Given the description of an element on the screen output the (x, y) to click on. 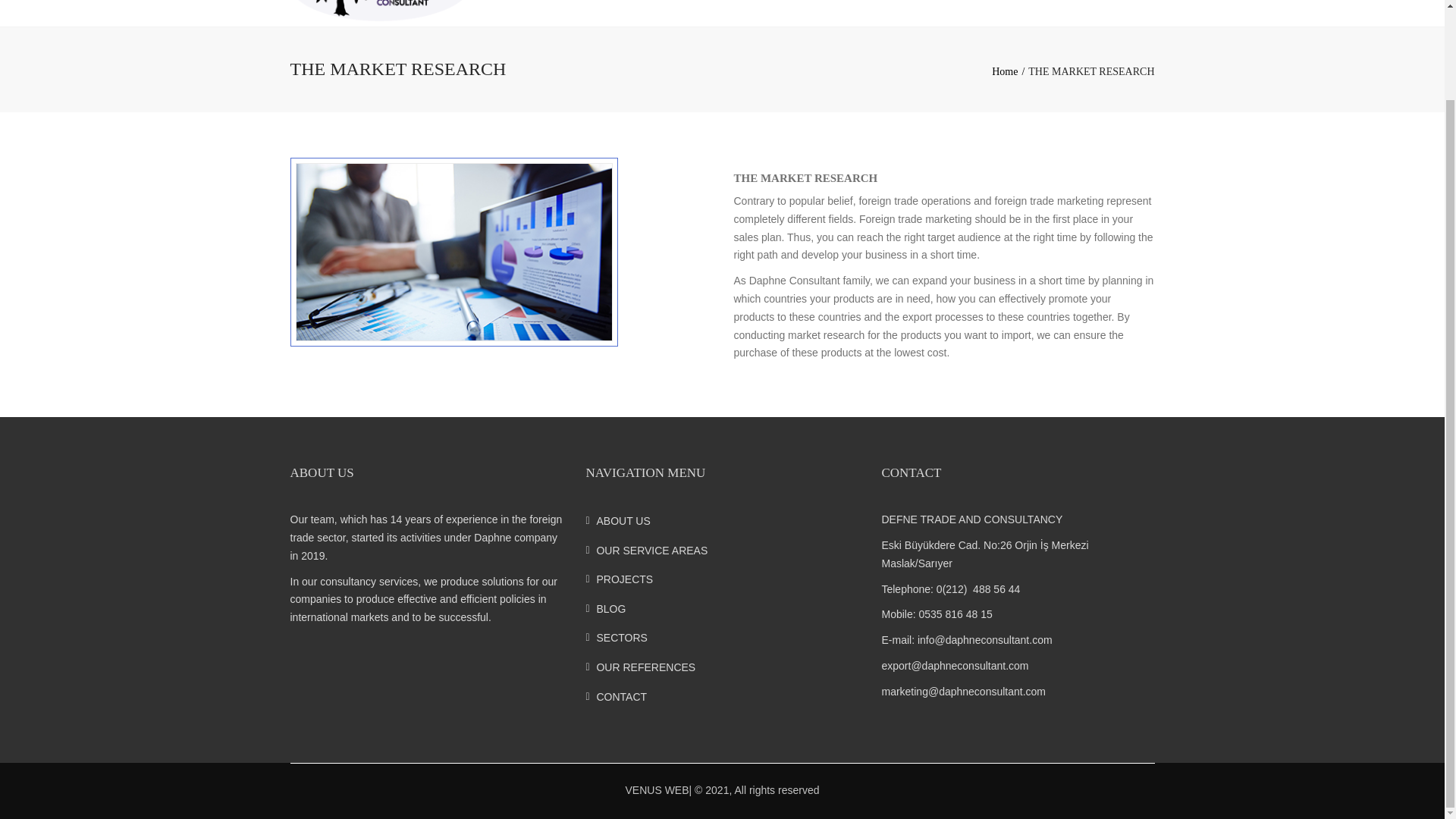
Home (1009, 71)
OUR SERVICE AREAS (722, 550)
BLOG (722, 608)
ABOUT US (722, 521)
PROJECTS (722, 579)
